Given the description of an element on the screen output the (x, y) to click on. 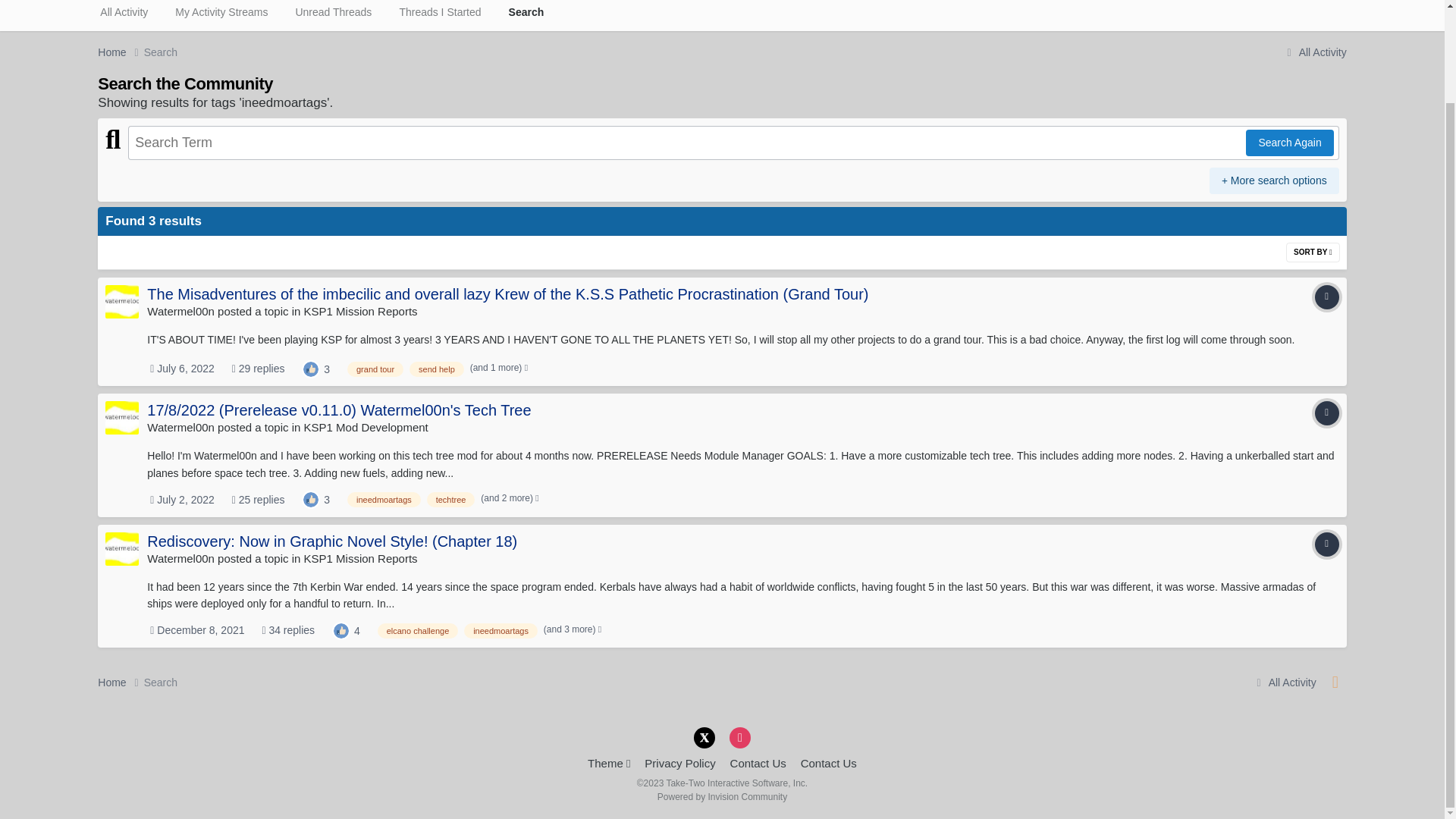
Unread Threads (333, 15)
Topic (1326, 413)
My Activity Streams (221, 15)
Like (310, 367)
All Activity (123, 15)
Go to Watermel00n's profile (180, 310)
Search (526, 15)
Go to Watermel00n's profile (121, 417)
Topic (1326, 297)
Go to Watermel00n's profile (180, 427)
Find other content tagged with 'send help' (436, 368)
Threads I Started (440, 15)
Find other content tagged with 'grand tour' (375, 368)
Go to Watermel00n's profile (121, 301)
Home (119, 52)
